Given the description of an element on the screen output the (x, y) to click on. 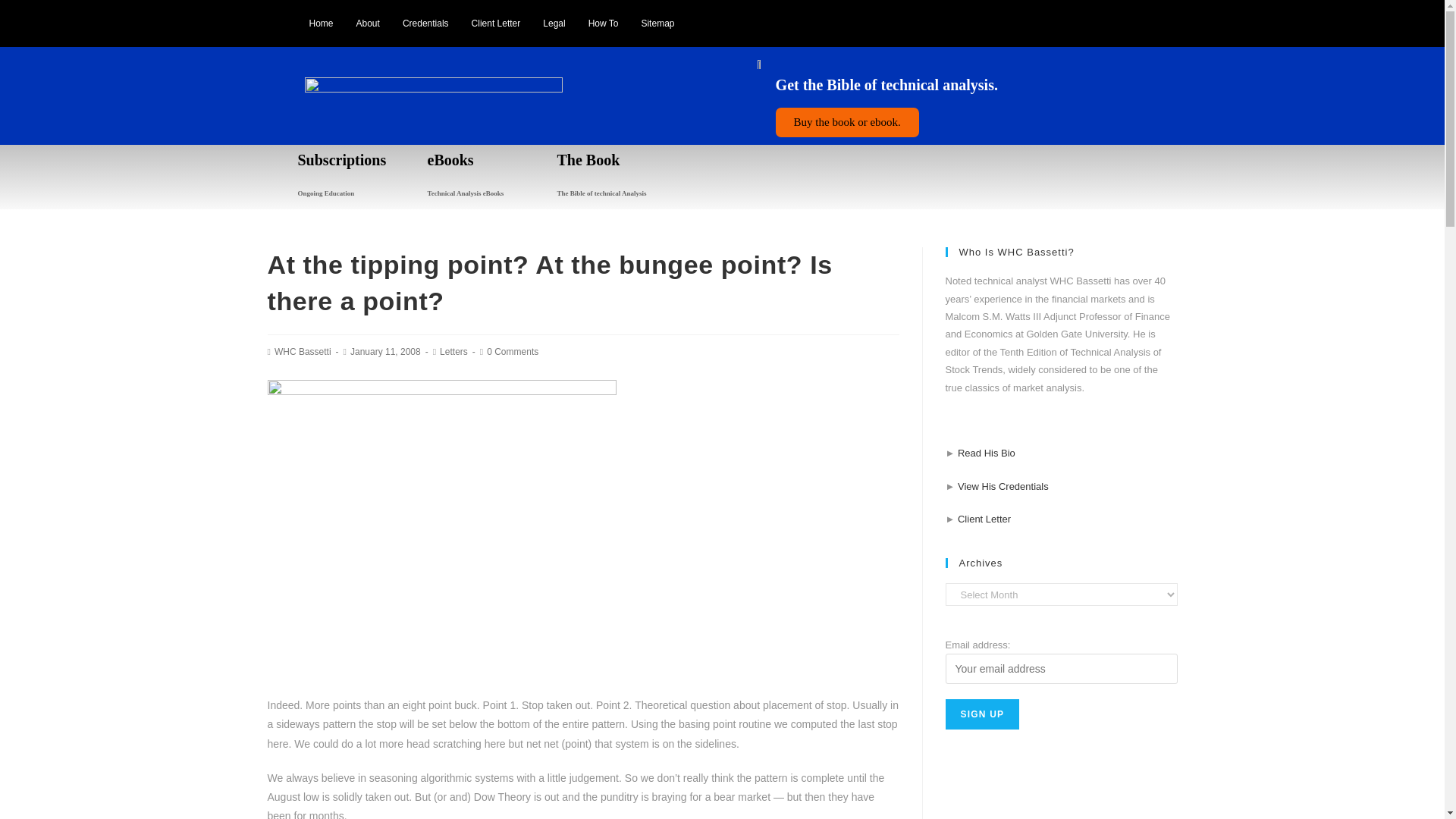
Posts by WHC Bassetti (303, 351)
Ongoing Education (325, 193)
About (368, 23)
Sign up (981, 714)
Credentials (425, 23)
Sitemap (656, 23)
The Bible of technical Analysis (601, 193)
Sign up (981, 714)
011108indu (440, 530)
Home (320, 23)
